Given the description of an element on the screen output the (x, y) to click on. 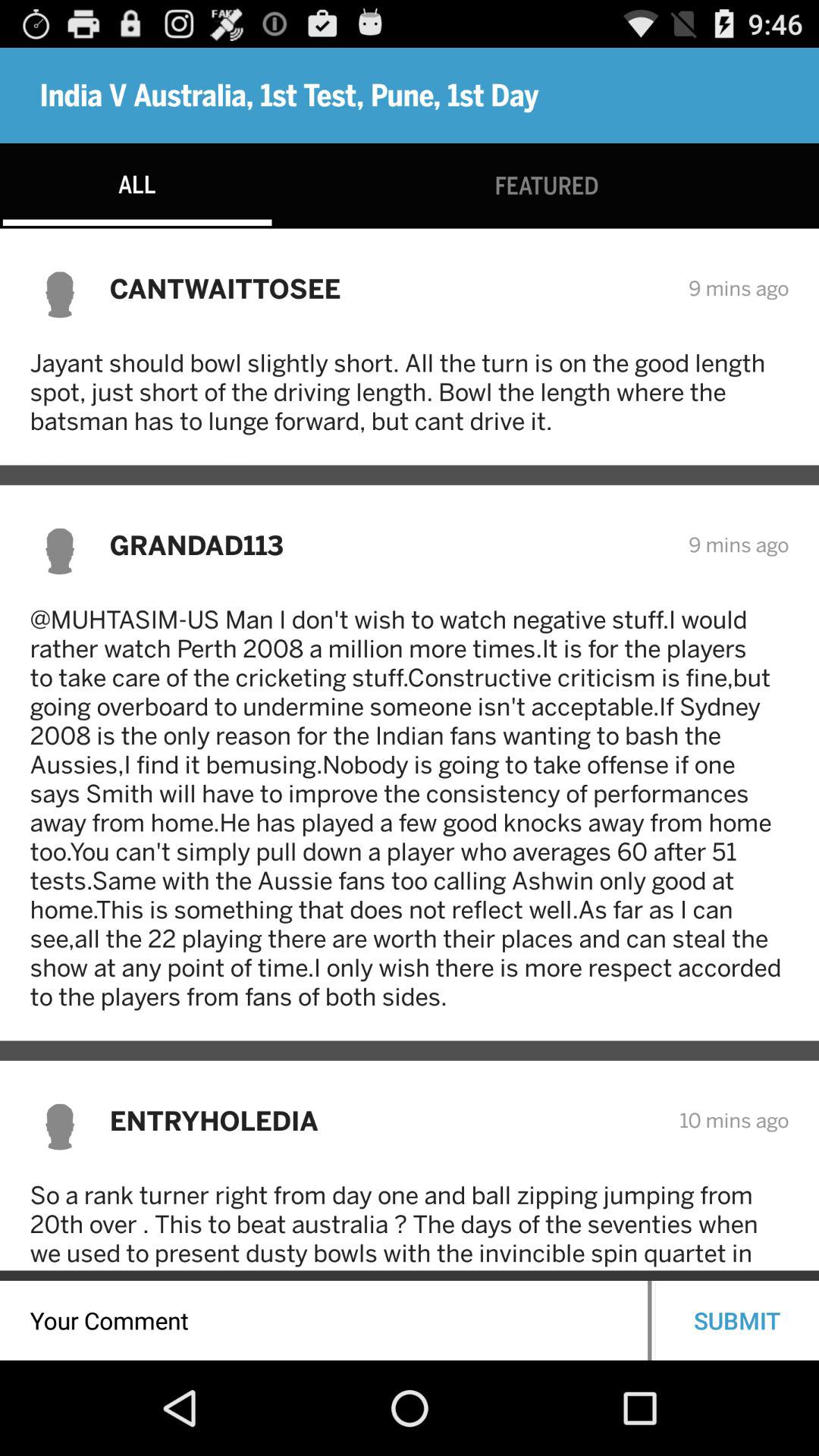
press icon above the cantwaittosee icon (546, 185)
